Given the description of an element on the screen output the (x, y) to click on. 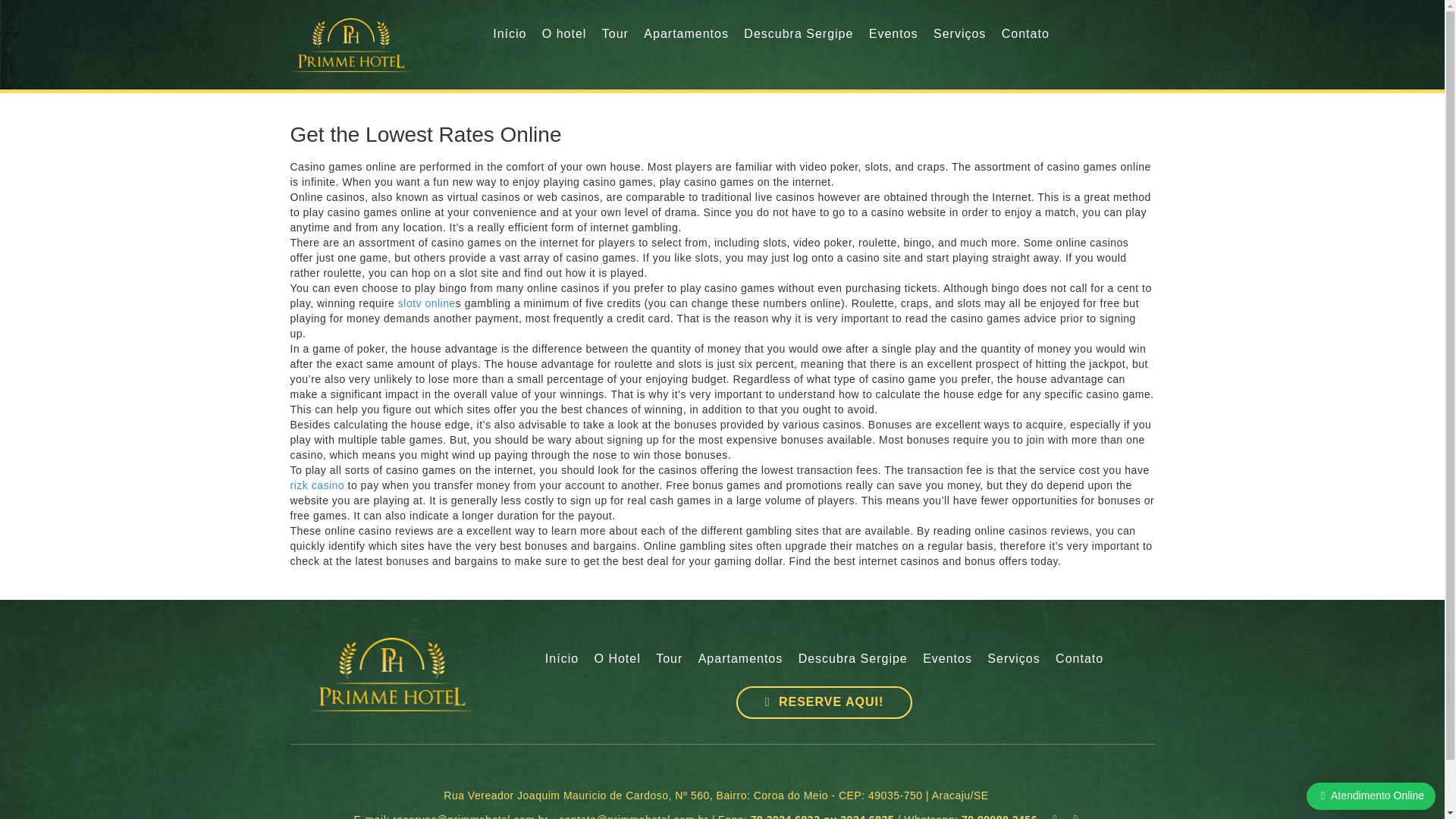
Eventos (947, 659)
Tour (615, 34)
O Hotel (617, 659)
Apartamentos (740, 659)
O hotel (563, 34)
Tour Virtual (669, 659)
O Hotel (617, 659)
Descubra Sergipe (852, 659)
Descubra Sergipe (852, 659)
Contato (1025, 34)
slotv online (426, 303)
Apartamentos (740, 659)
Apartamentos (686, 34)
Eventos (893, 34)
Contato (1079, 659)
